Given the description of an element on the screen output the (x, y) to click on. 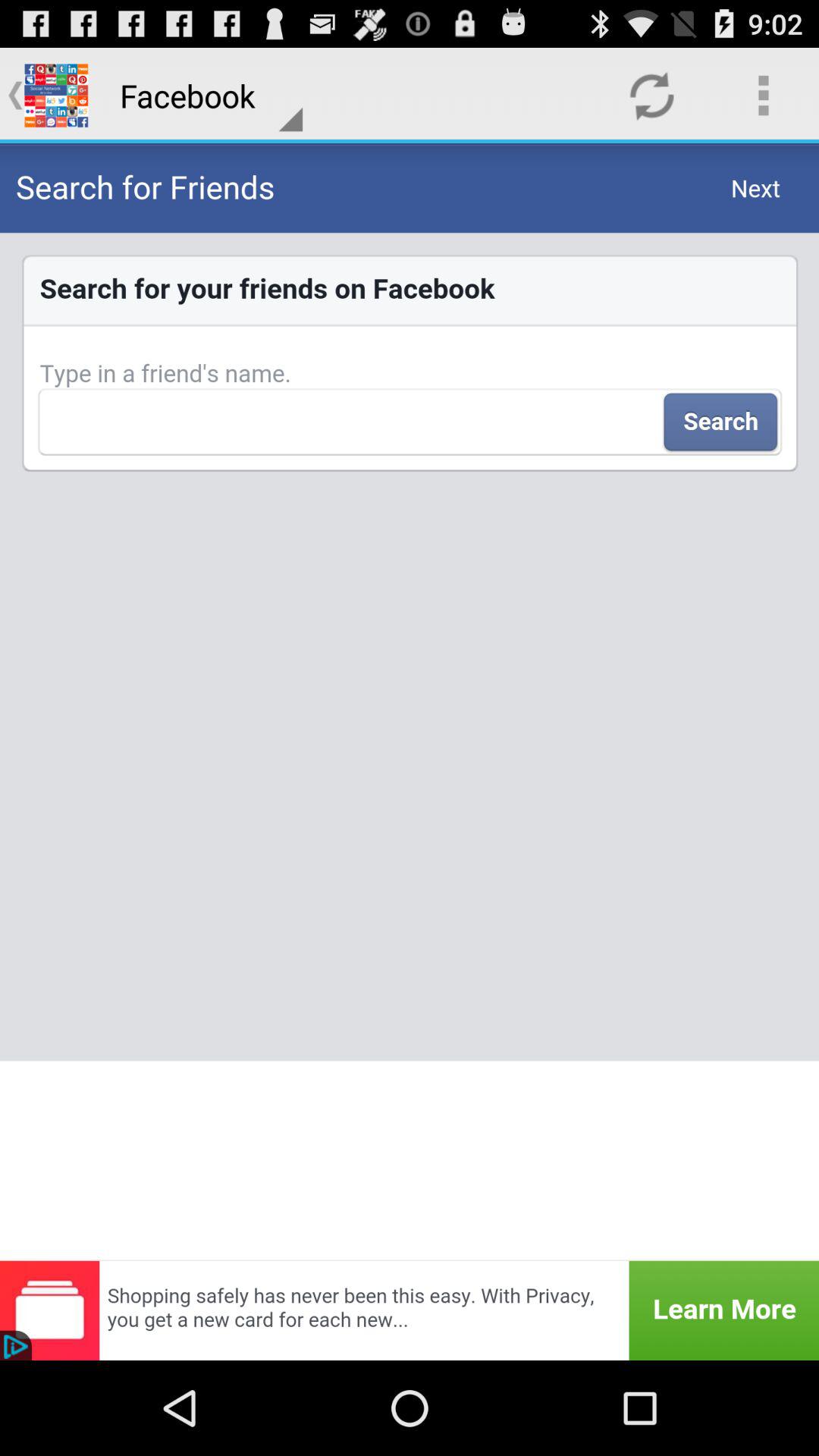
turn on the icon next to the facebook (651, 95)
